Given the description of an element on the screen output the (x, y) to click on. 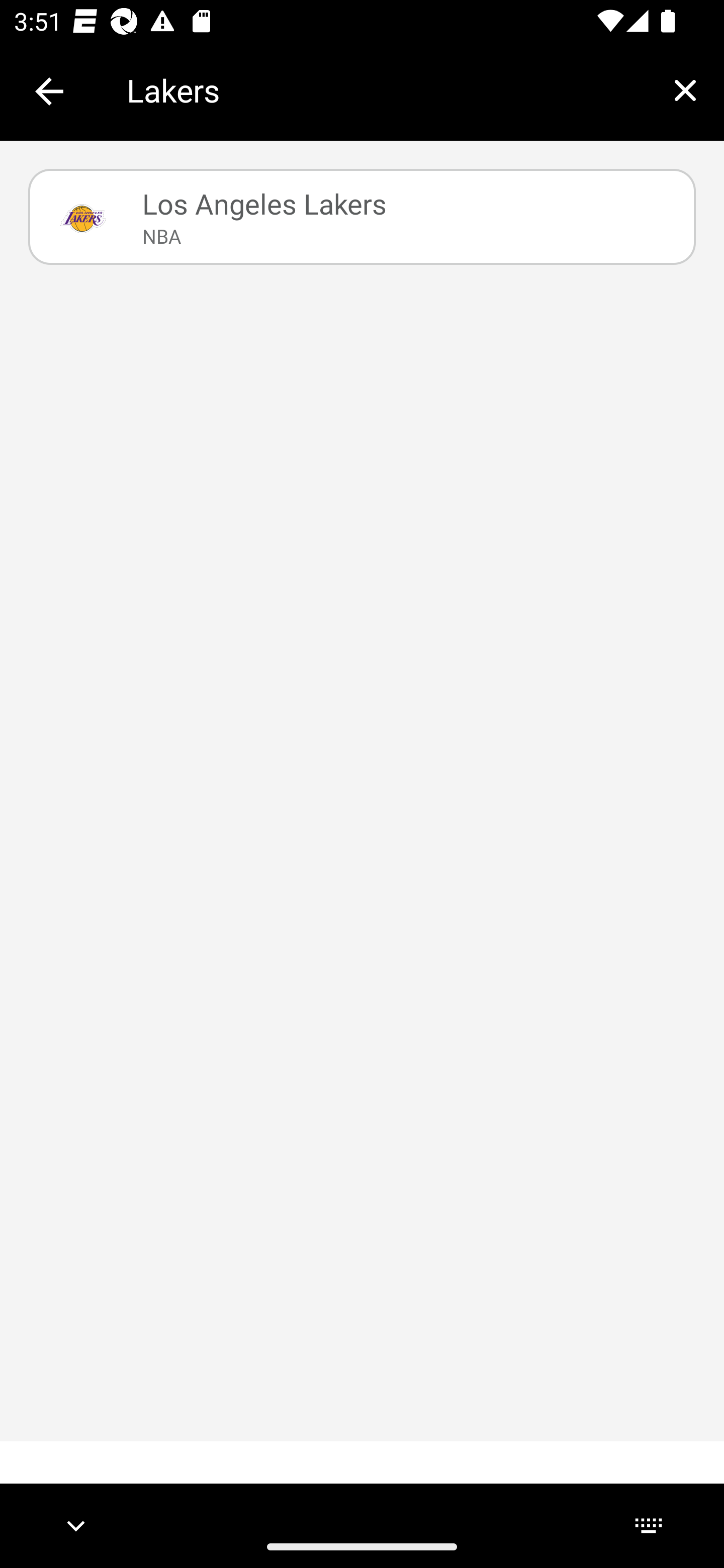
Collapse (49, 91)
Clear query (685, 89)
Lakers (386, 90)
Los Angeles Lakers NBA (361, 216)
